Given the description of an element on the screen output the (x, y) to click on. 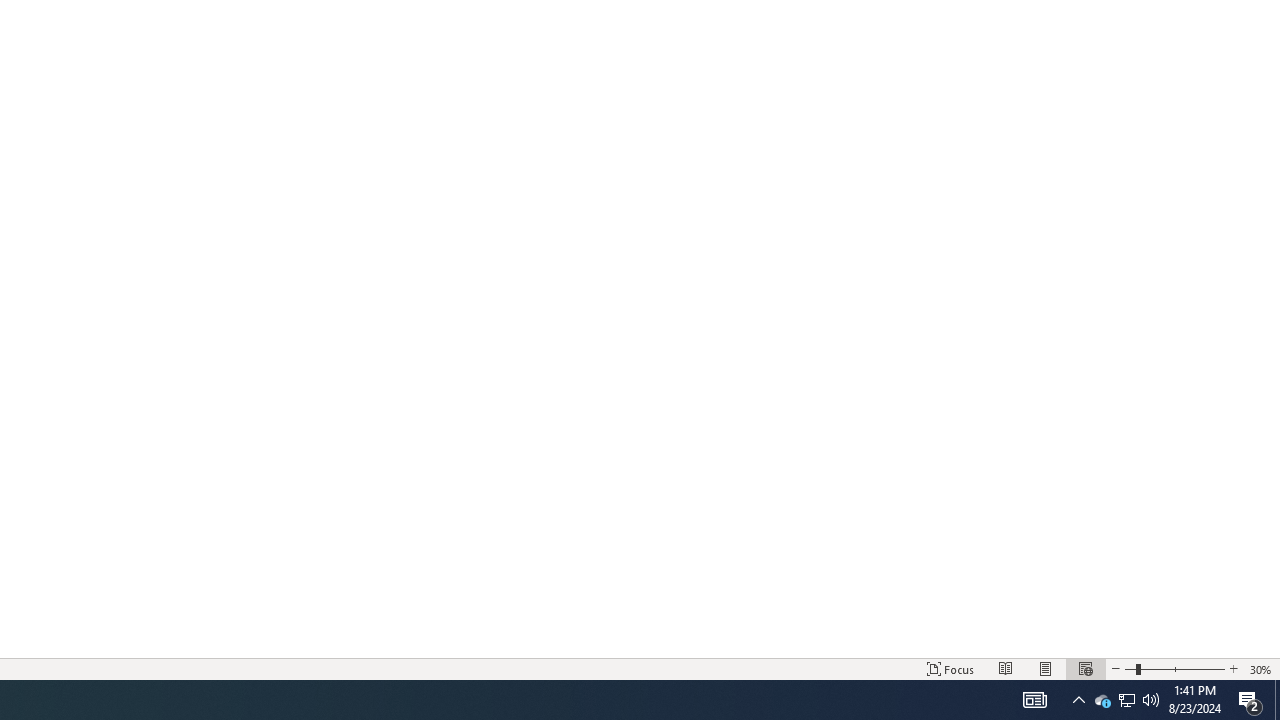
Zoom 30% (1261, 668)
